Given the description of an element on the screen output the (x, y) to click on. 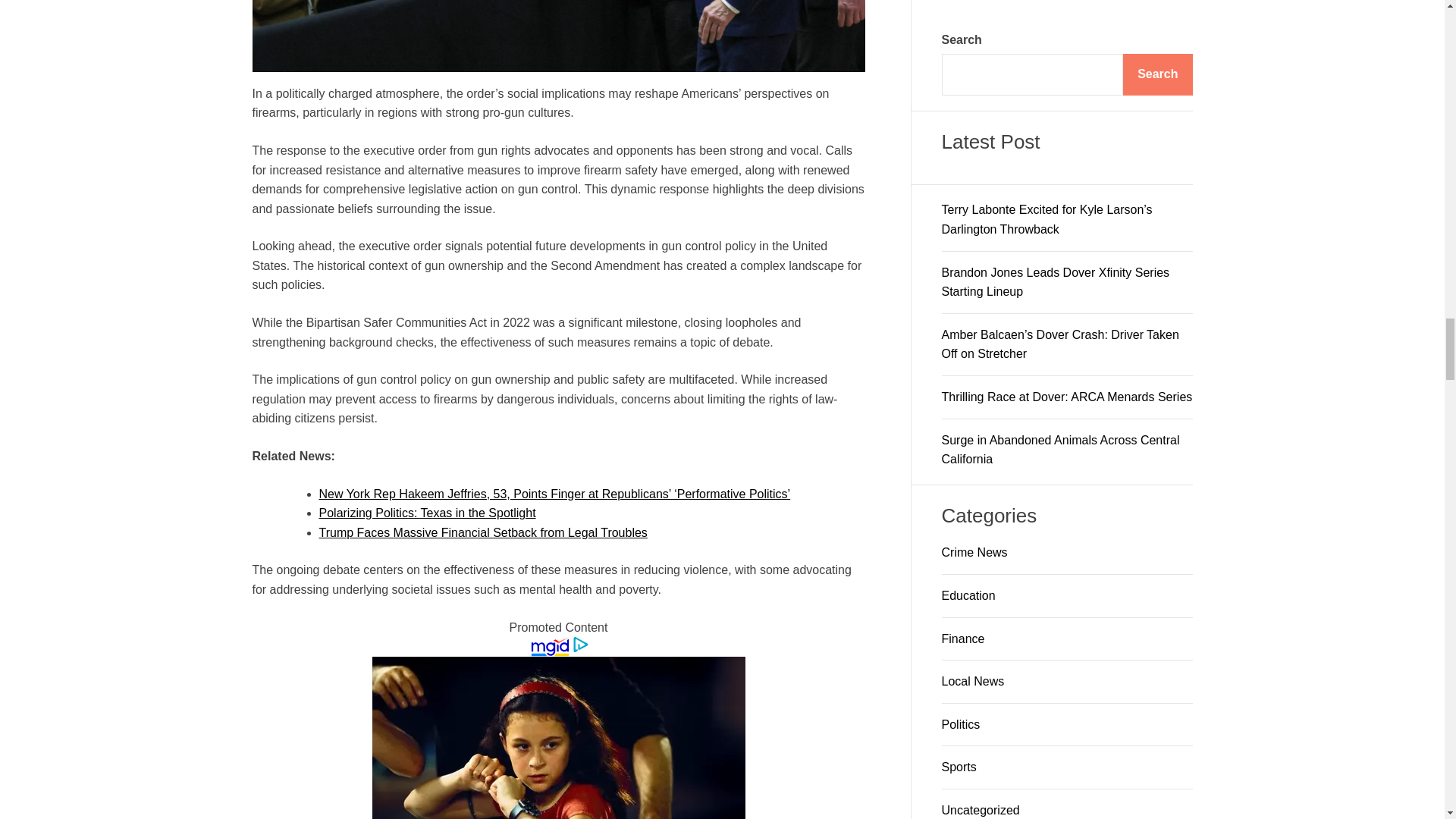
Trump Faces Massive Financial Setback from Legal Troubles (482, 532)
Polarizing Politics: Texas in the Spotlight (426, 512)
